Given the description of an element on the screen output the (x, y) to click on. 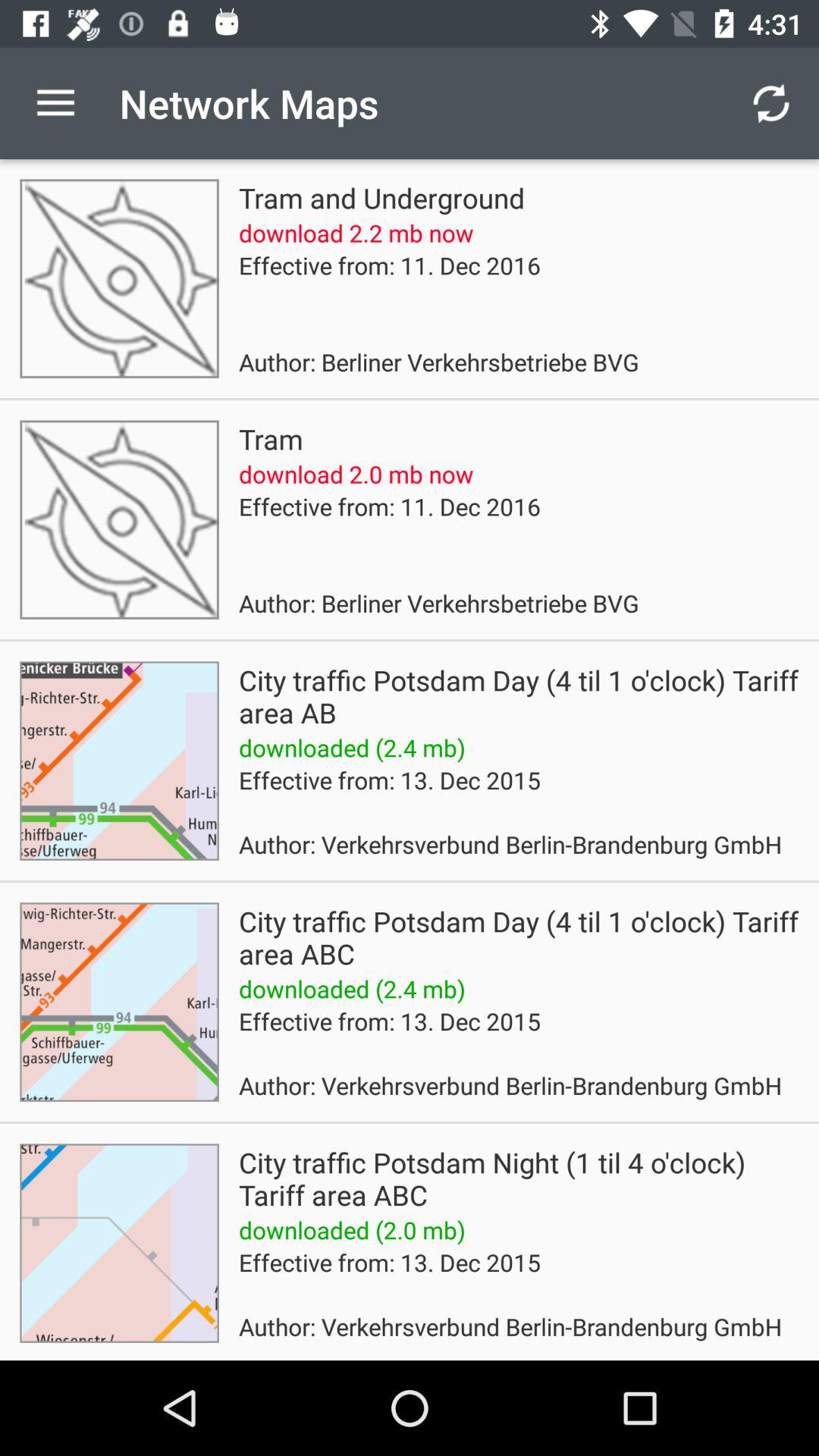
turn on the item next to the network maps icon (771, 103)
